Given the description of an element on the screen output the (x, y) to click on. 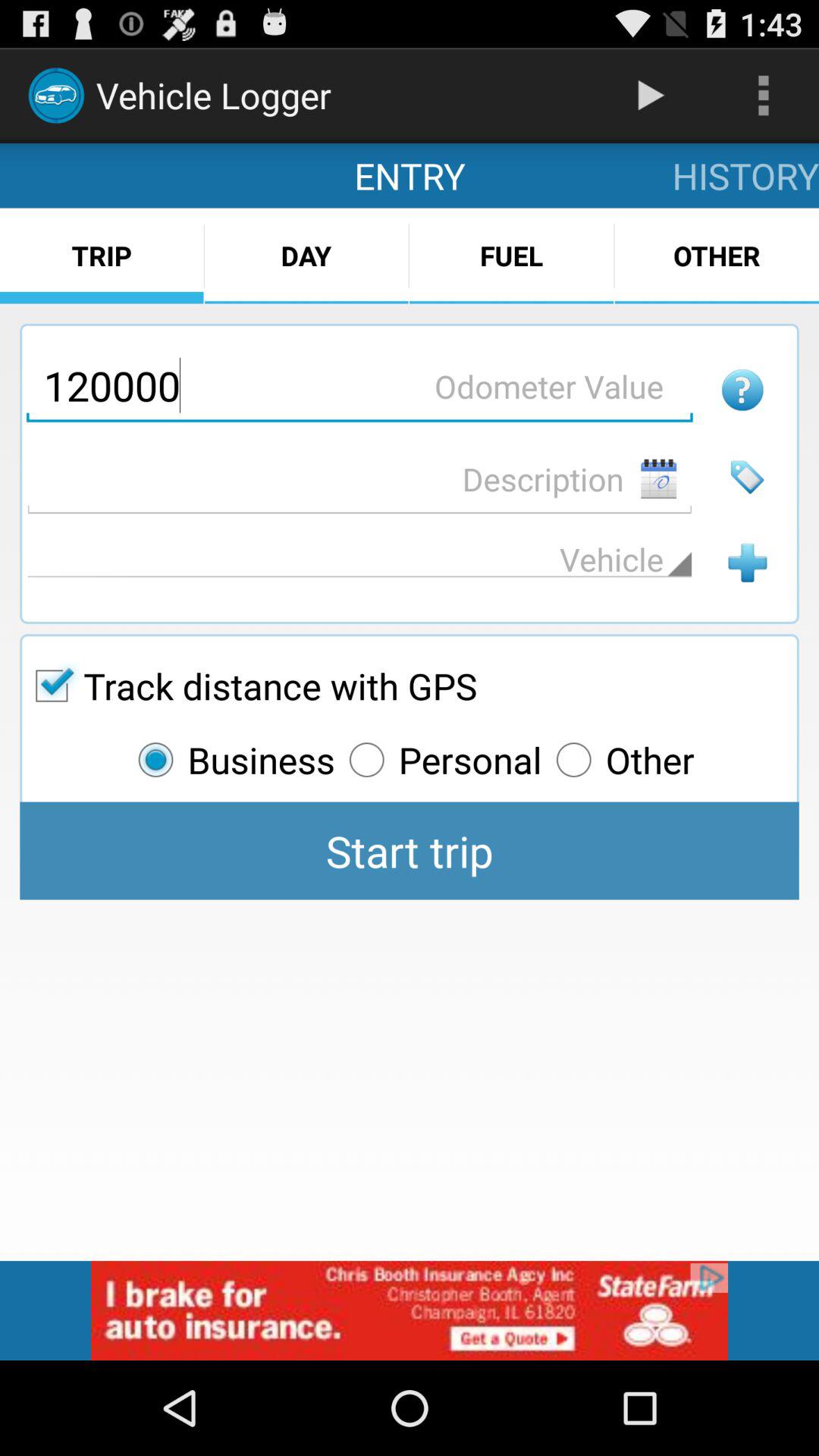
description (359, 478)
